Given the description of an element on the screen output the (x, y) to click on. 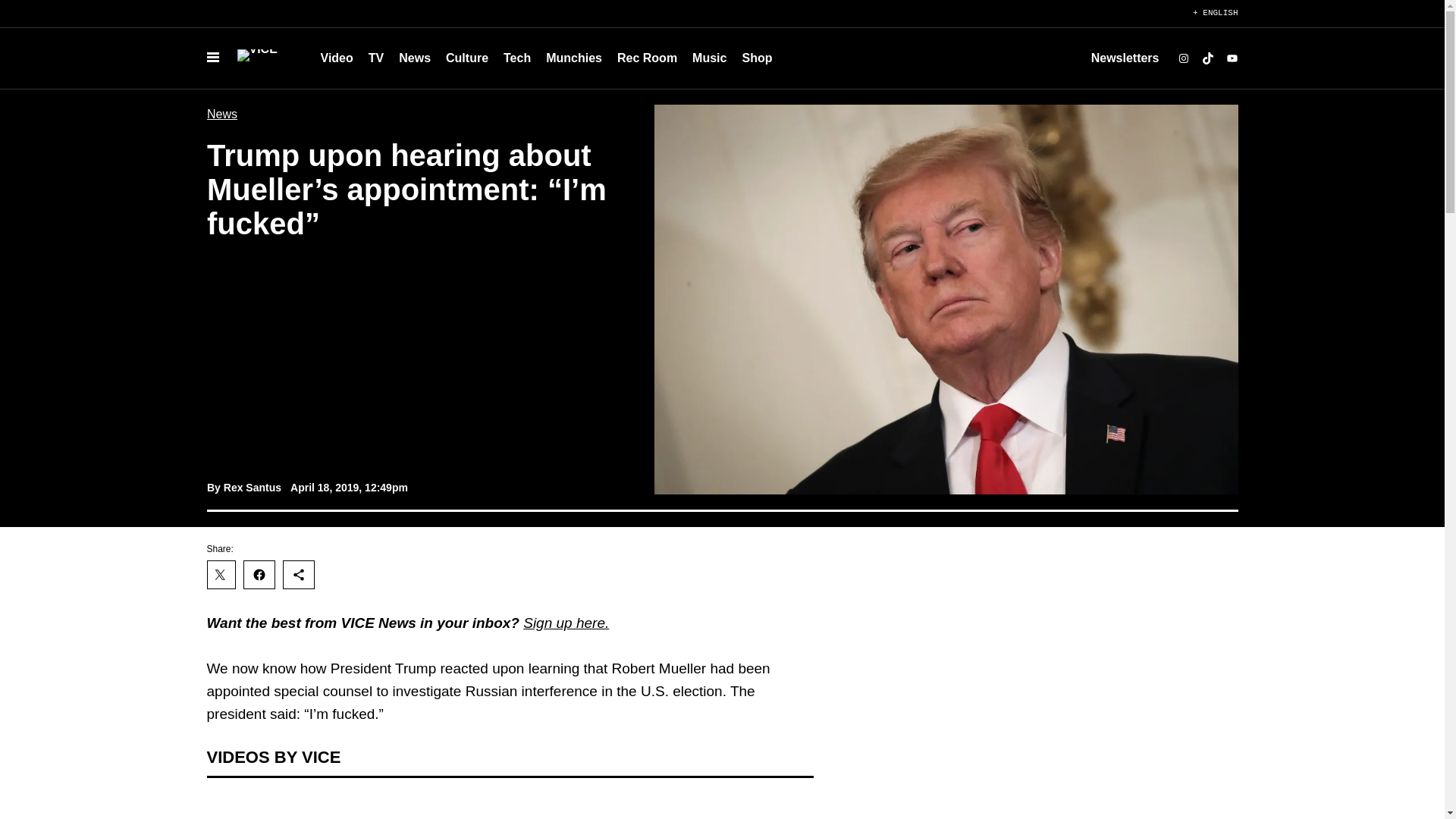
Open Menu (211, 58)
Posts by Rex Santus (251, 487)
Culture (467, 58)
News (414, 58)
Rec Room (647, 58)
YouTube (1231, 58)
TikTok (1206, 58)
Video (336, 58)
Tech (517, 58)
TV (376, 58)
